Given the description of an element on the screen output the (x, y) to click on. 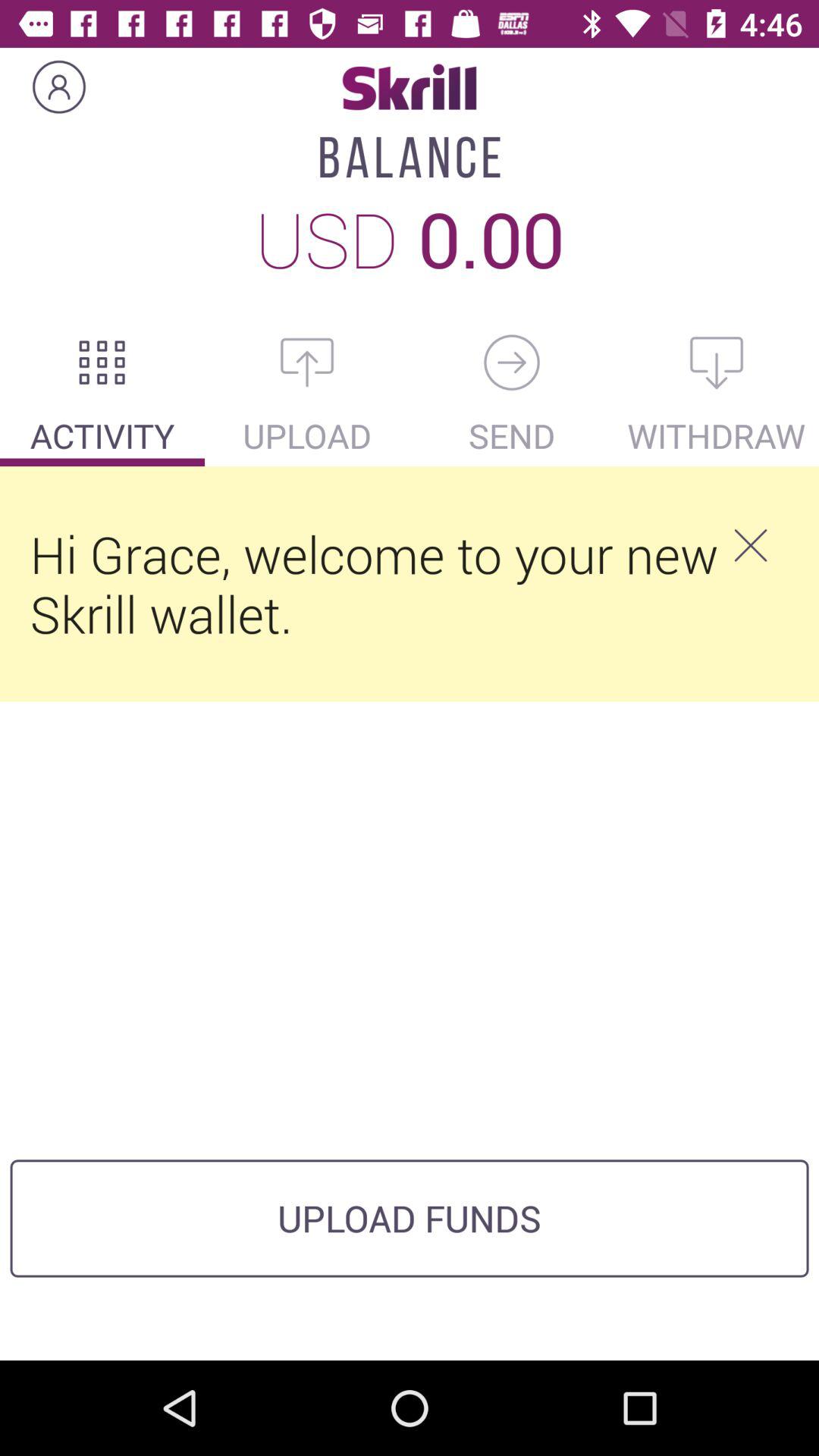
upload something (306, 362)
